Given the description of an element on the screen output the (x, y) to click on. 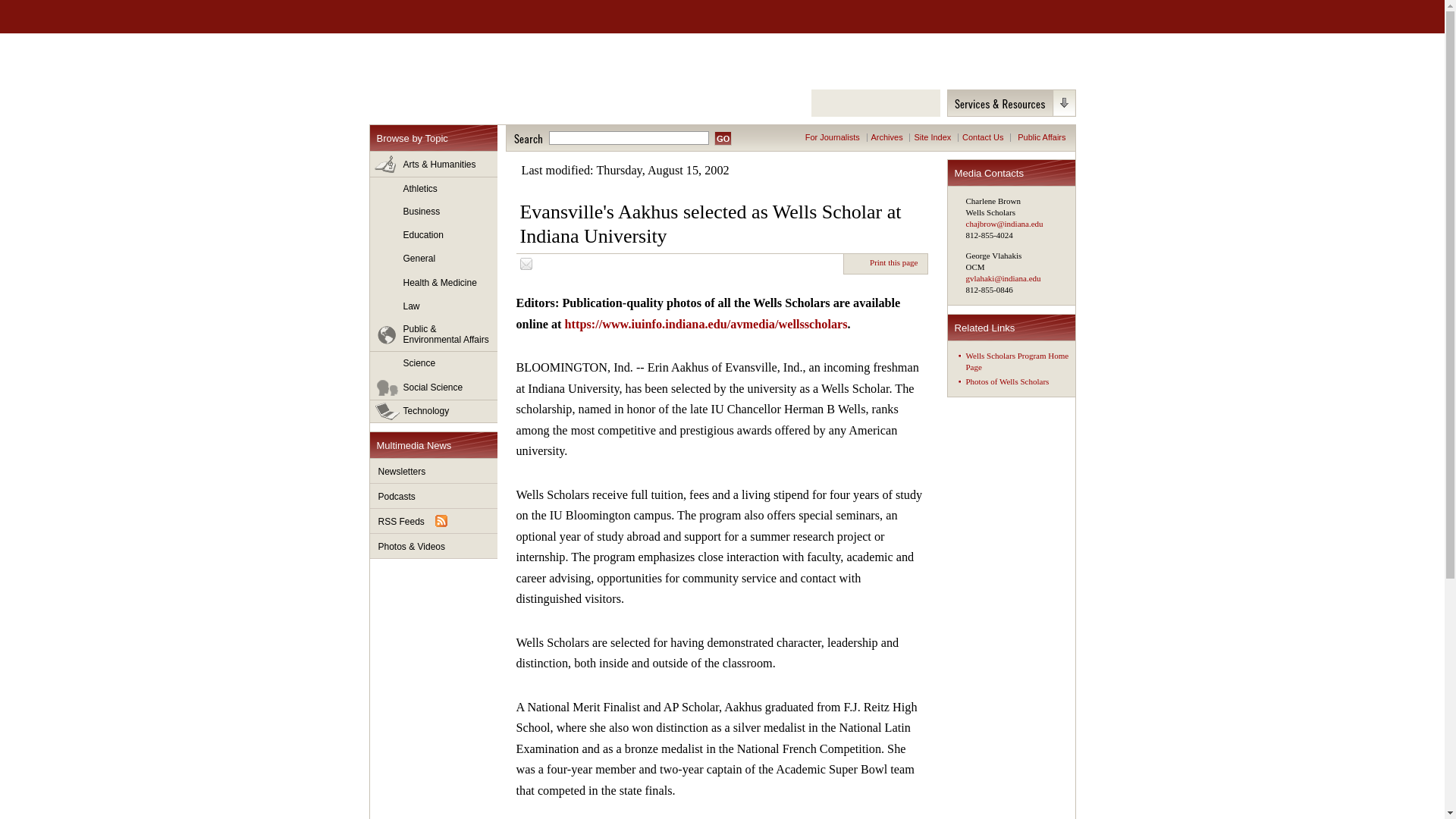
Indiana University (448, 16)
IU News Room (455, 69)
Newsletters (433, 471)
Business (433, 211)
Technology (433, 411)
Business (433, 211)
Law (433, 306)
Science (433, 363)
Education (433, 235)
Athletics (433, 188)
RSS Feeds (433, 520)
General (433, 259)
Podcasts (433, 496)
General (433, 259)
Athletics (433, 188)
